Given the description of an element on the screen output the (x, y) to click on. 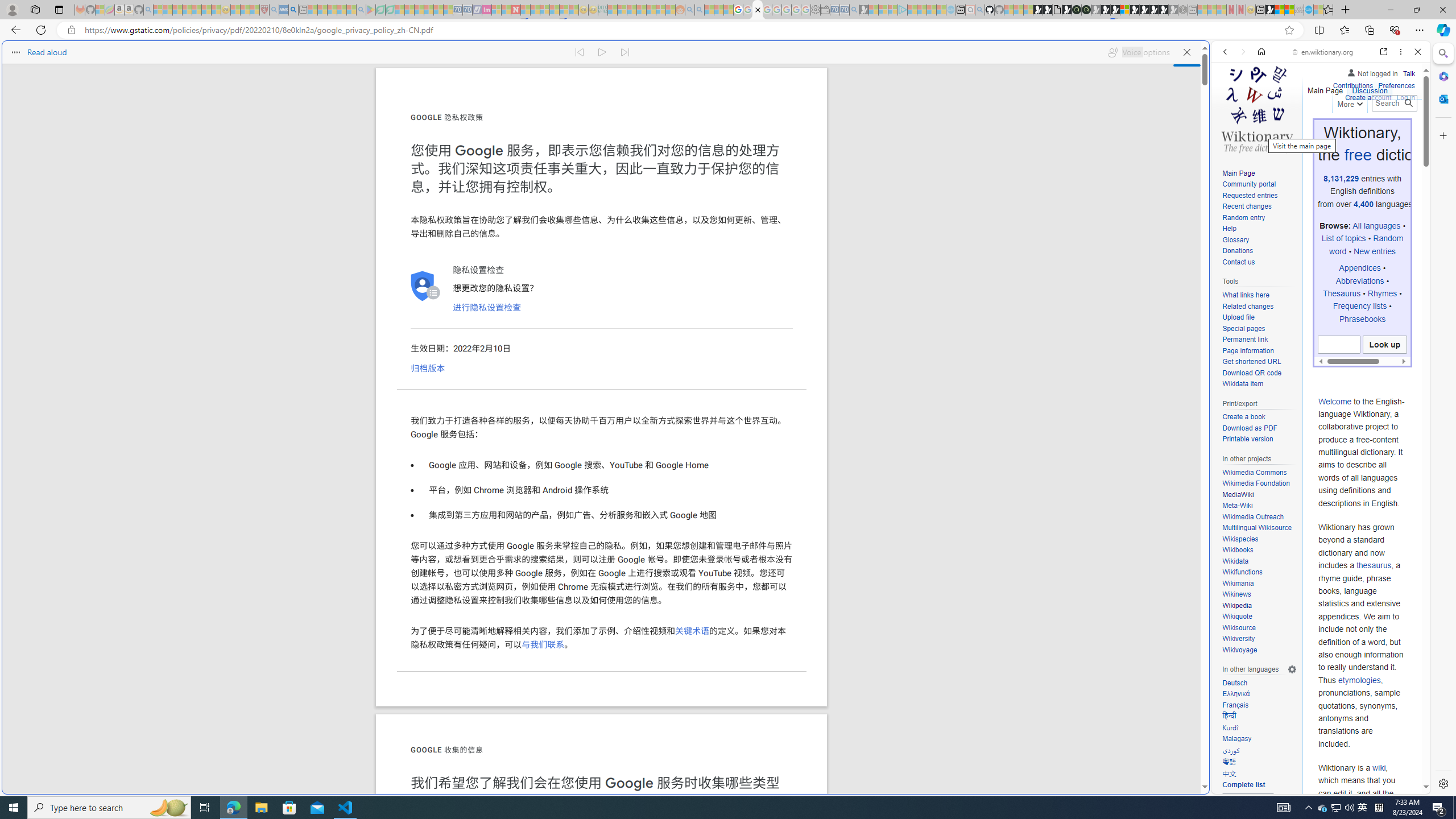
Glossary (1235, 239)
Wikimedia Outreach (1259, 517)
Settings - Sleeping (815, 9)
Search or enter web address (922, 108)
Meta-Wiki (1237, 505)
Page information (1259, 351)
Special pages (1259, 328)
Upload file (1259, 317)
